Given the description of an element on the screen output the (x, y) to click on. 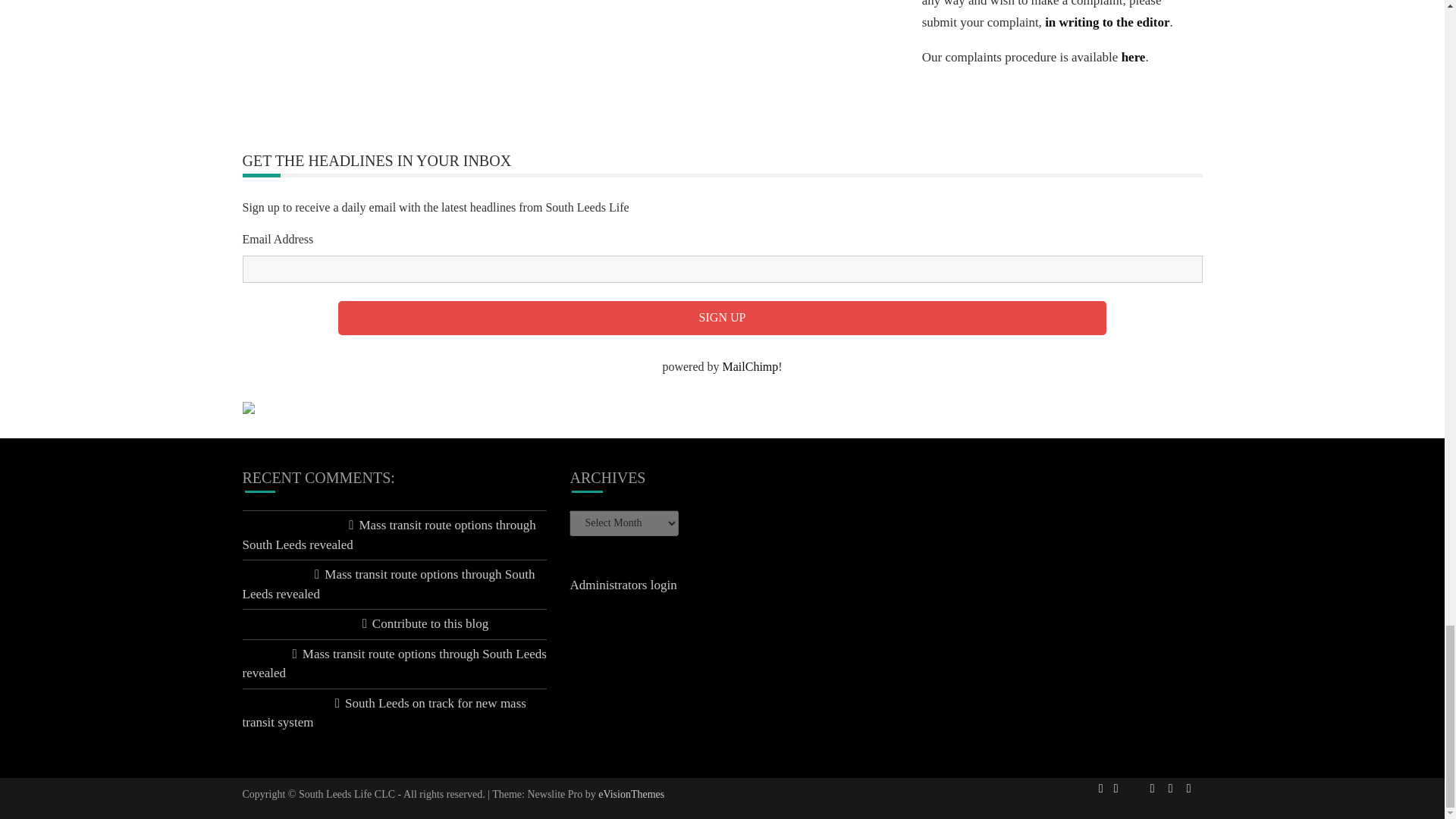
Sign up (721, 317)
